Given the description of an element on the screen output the (x, y) to click on. 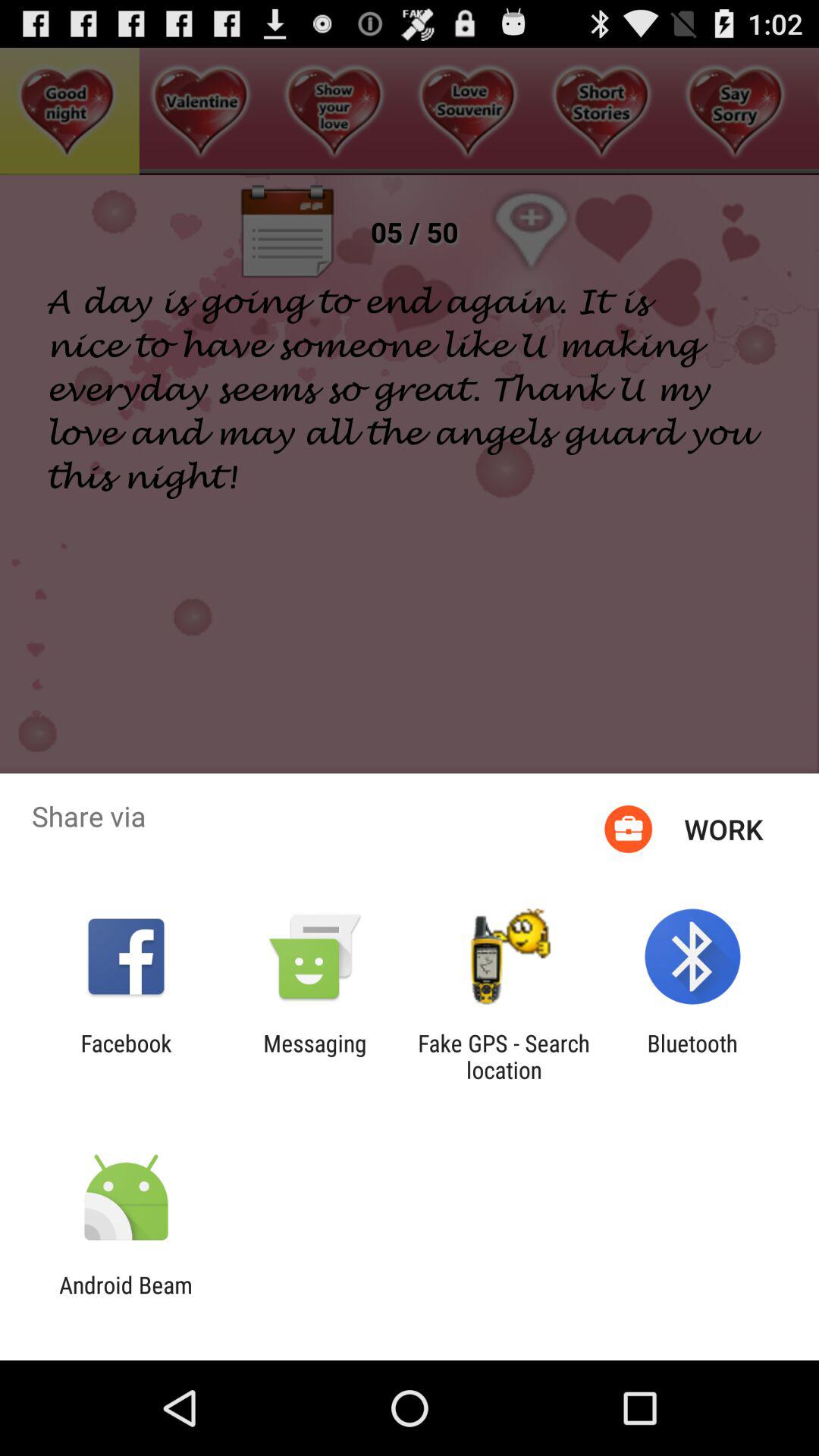
launch the icon next to the bluetooth icon (503, 1056)
